Given the description of an element on the screen output the (x, y) to click on. 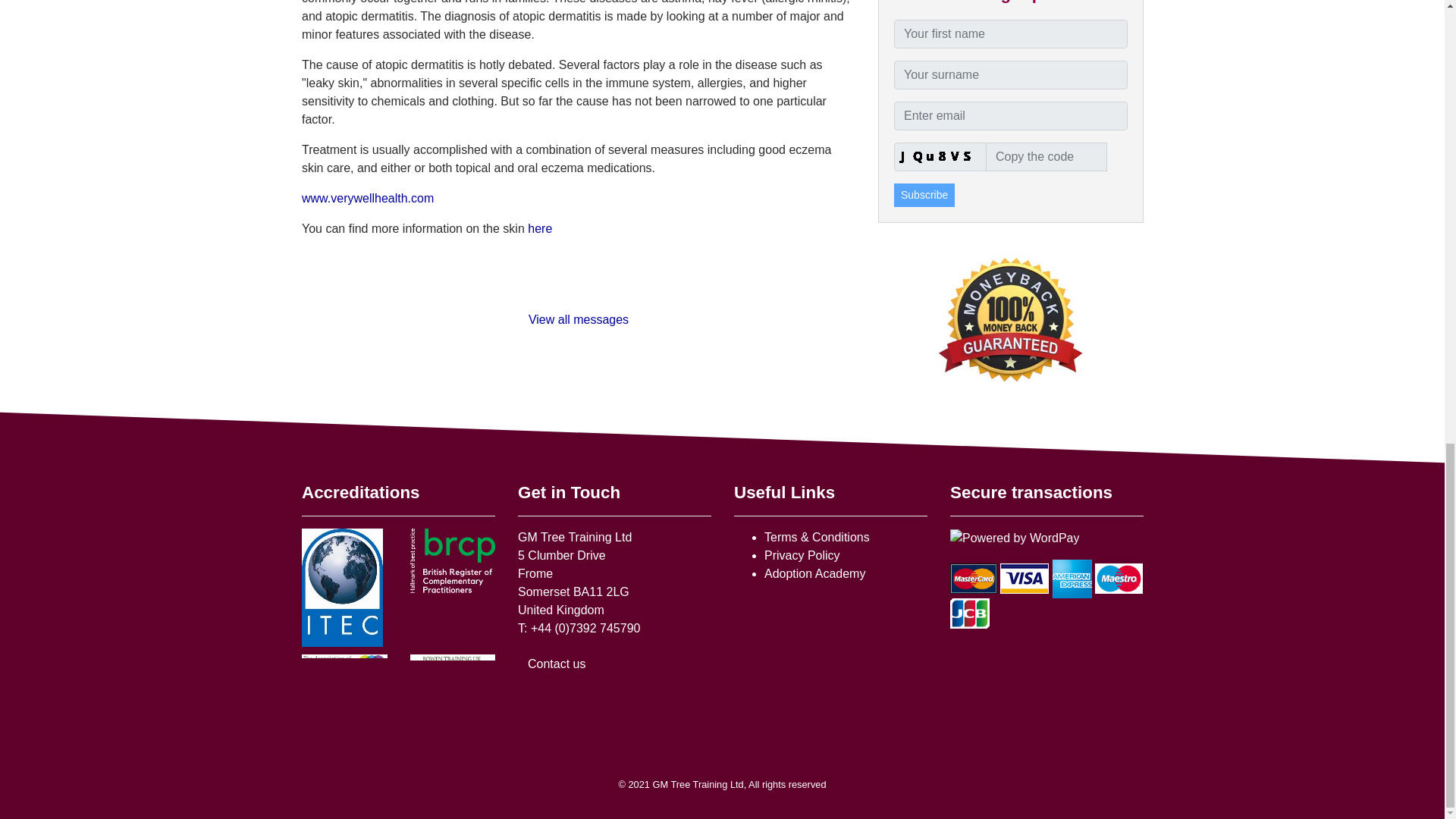
www.verywellhealth.com (367, 197)
here  (540, 228)
View all messages (577, 318)
